Given the description of an element on the screen output the (x, y) to click on. 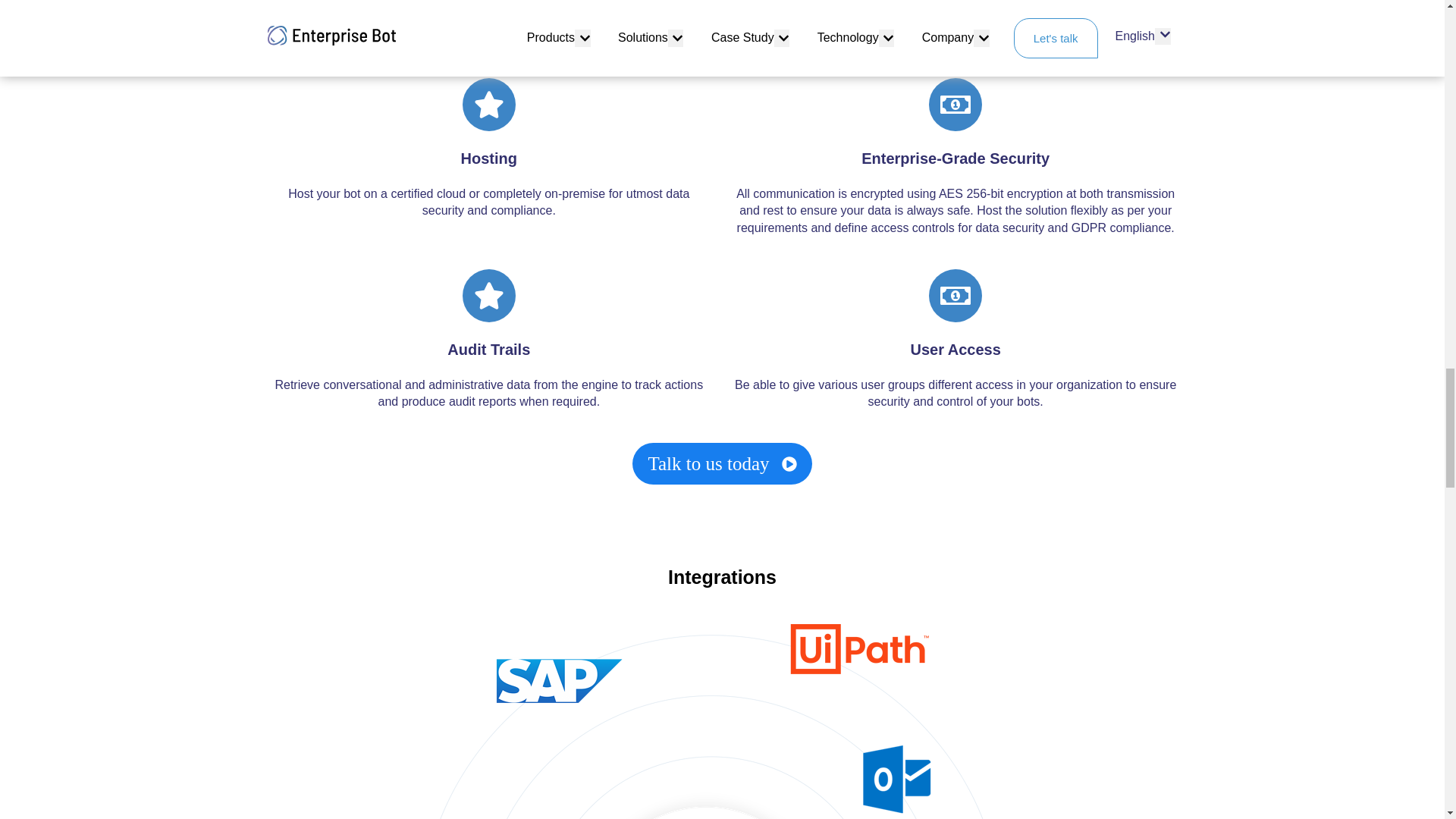
integ-tech page (722, 721)
